Given the description of an element on the screen output the (x, y) to click on. 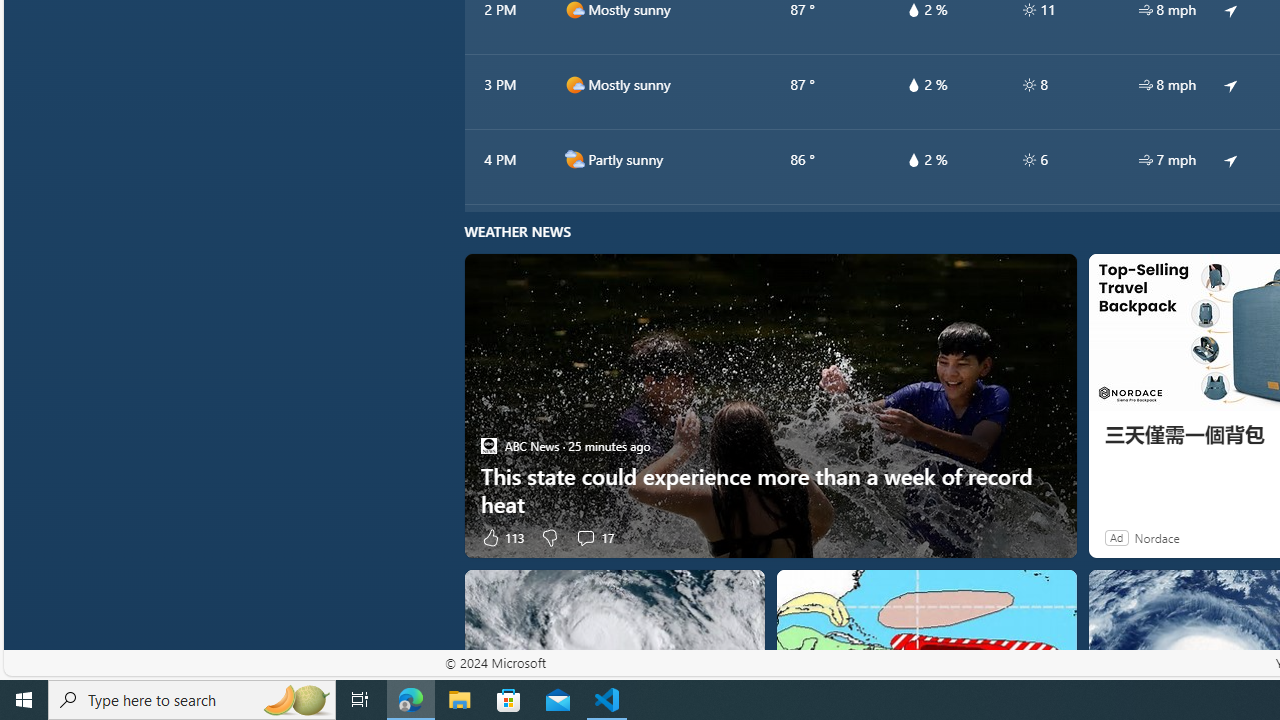
View comments 17 Comment (585, 537)
